Given the description of an element on the screen output the (x, y) to click on. 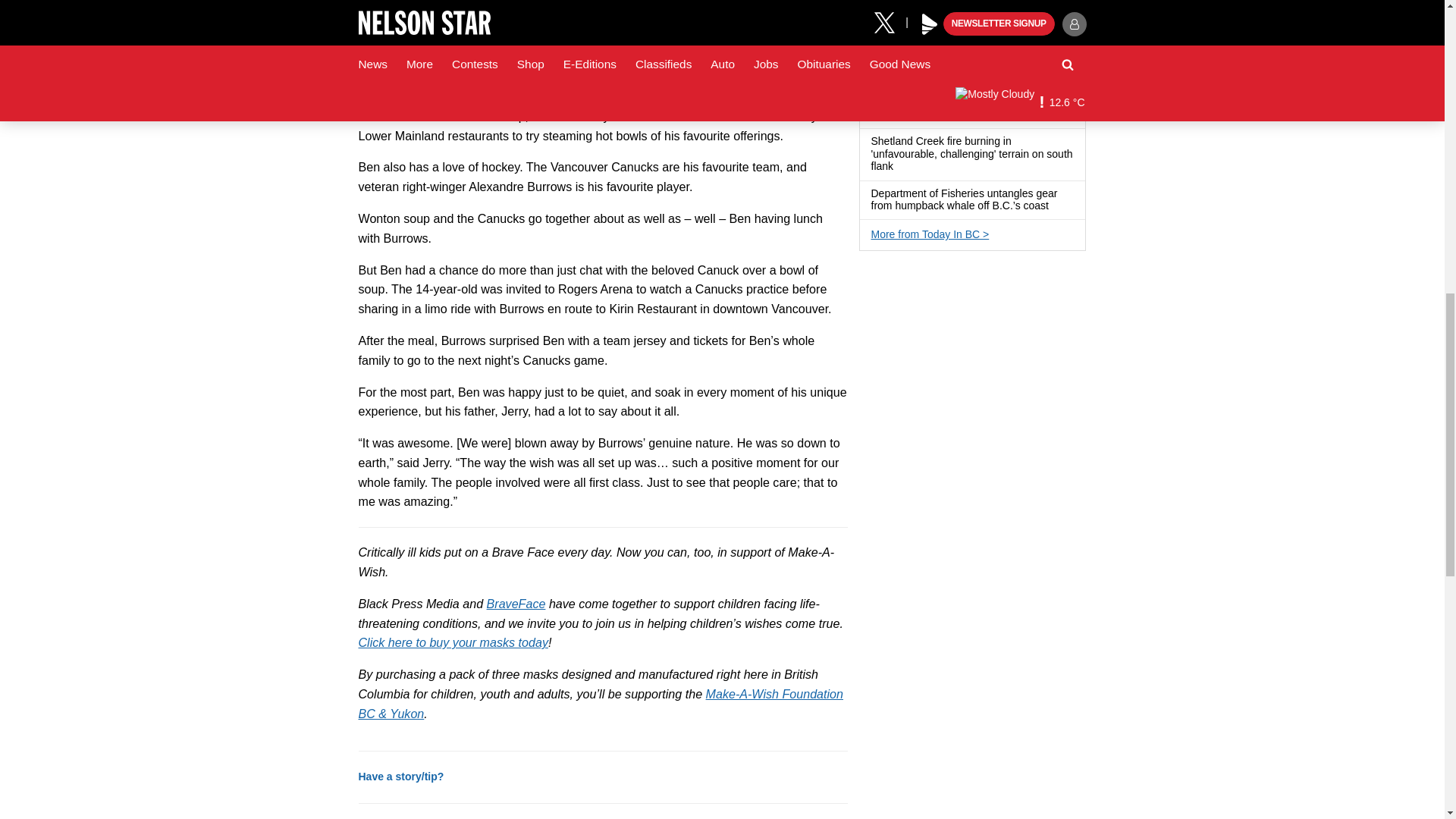
Has a gallery (1027, 75)
Has a gallery (959, 36)
Has a gallery (902, 167)
